Given the description of an element on the screen output the (x, y) to click on. 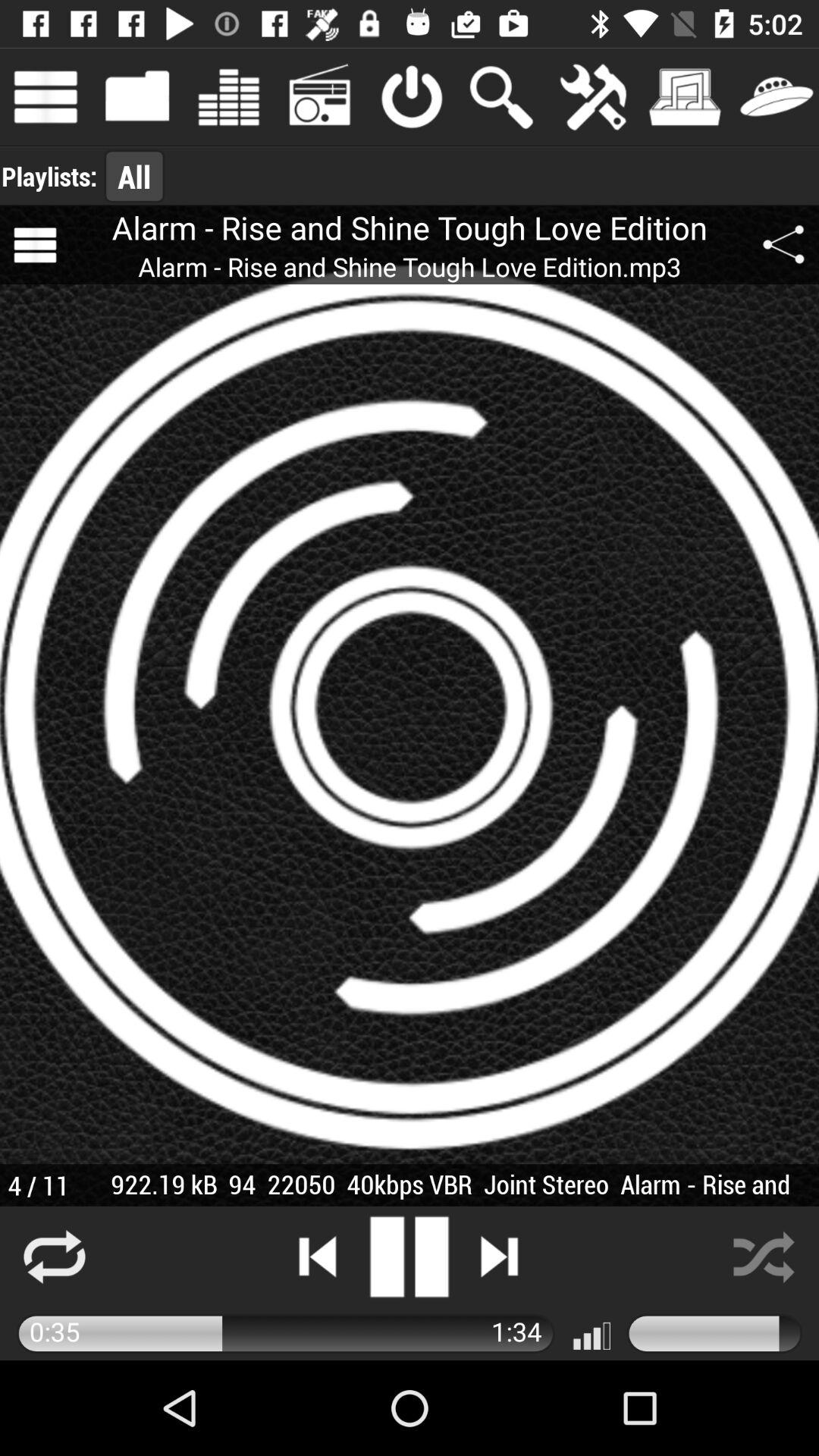
turn on app next to the alarm rise and app (783, 244)
